Given the description of an element on the screen output the (x, y) to click on. 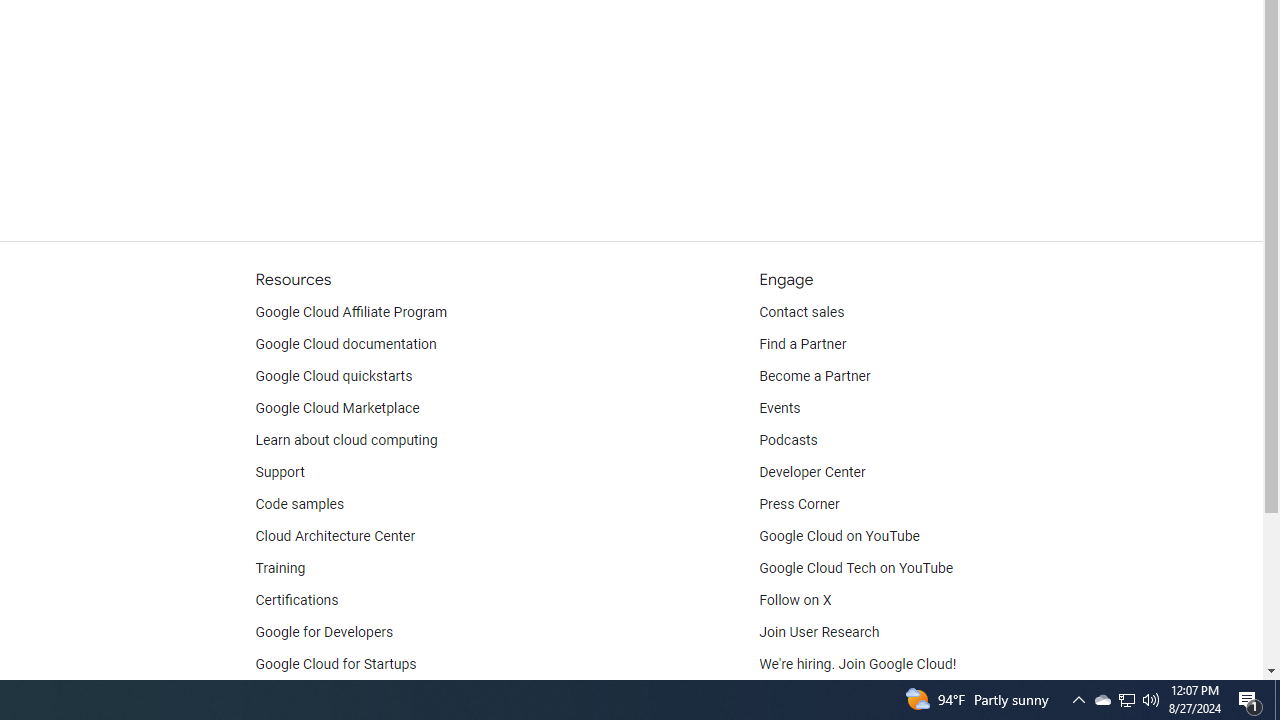
Google Cloud Marketplace (336, 408)
Google Cloud on YouTube (839, 536)
Cloud Architecture Center (335, 536)
Press Corner (799, 504)
Follow on X (795, 600)
Google for Developers (324, 632)
Google Cloud for Startups (335, 664)
Become a Partner (814, 376)
Events (780, 408)
